Given the description of an element on the screen output the (x, y) to click on. 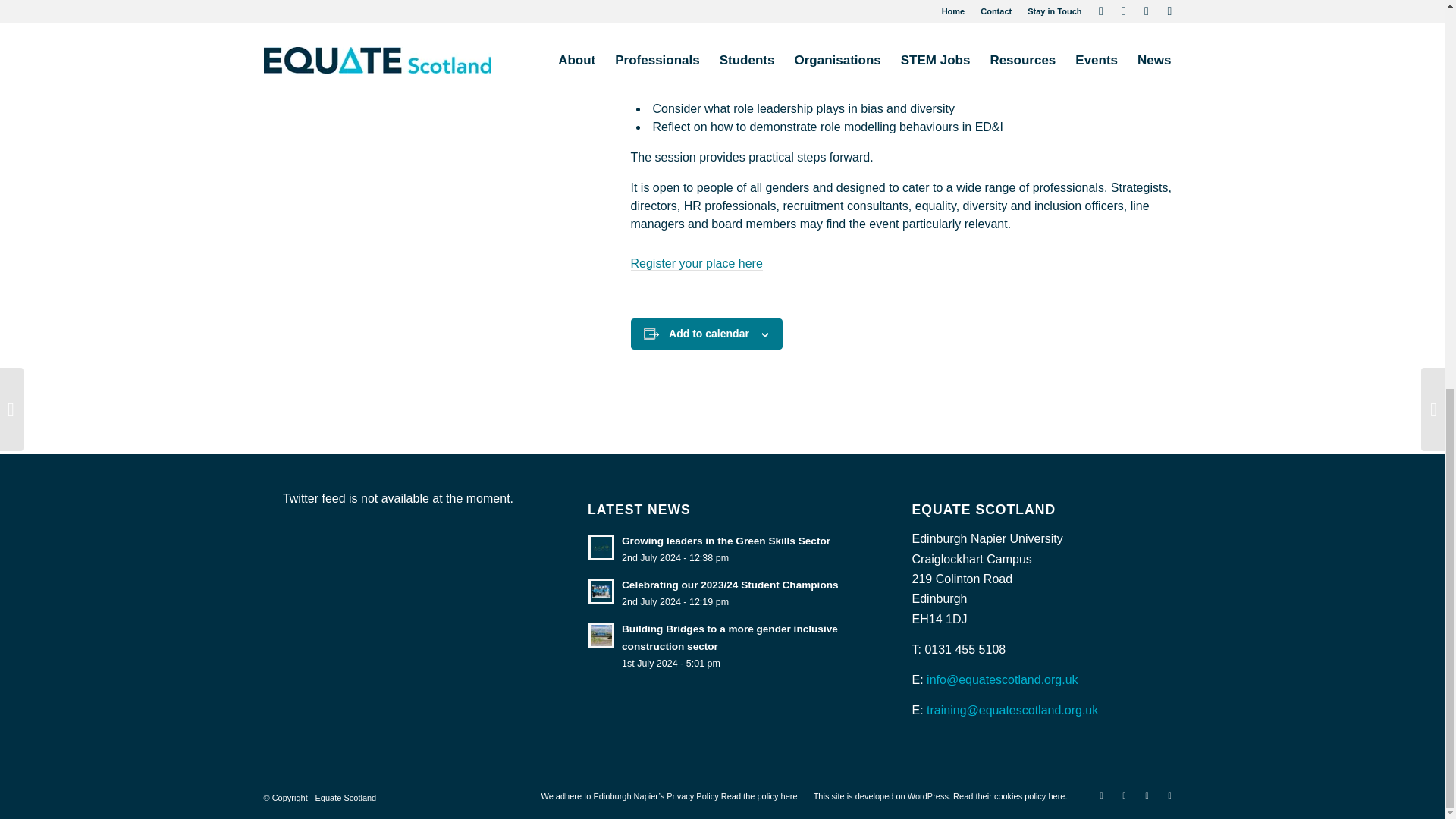
Read: Growing leaders in the Green Skills Sector (601, 547)
